Given the description of an element on the screen output the (x, y) to click on. 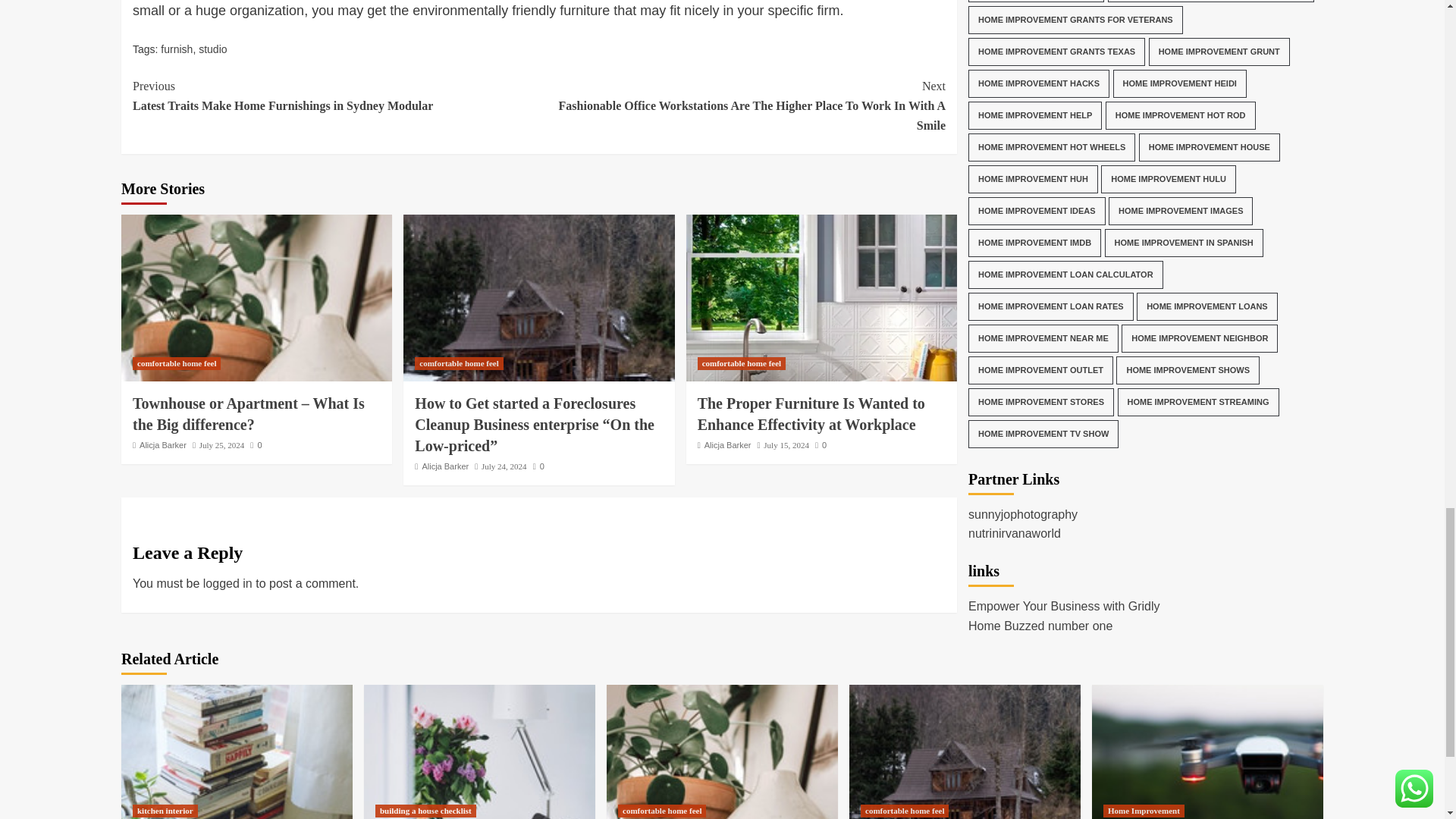
furnish (176, 49)
July 24, 2024 (504, 465)
comfortable home feel (458, 363)
Alicja Barker (445, 465)
0 (256, 444)
studio (212, 49)
Alicja Barker (162, 444)
July 25, 2024 (221, 444)
0 (538, 465)
comfortable home feel (176, 363)
Shopping for the Finest Aviaries (479, 751)
